Given the description of an element on the screen output the (x, y) to click on. 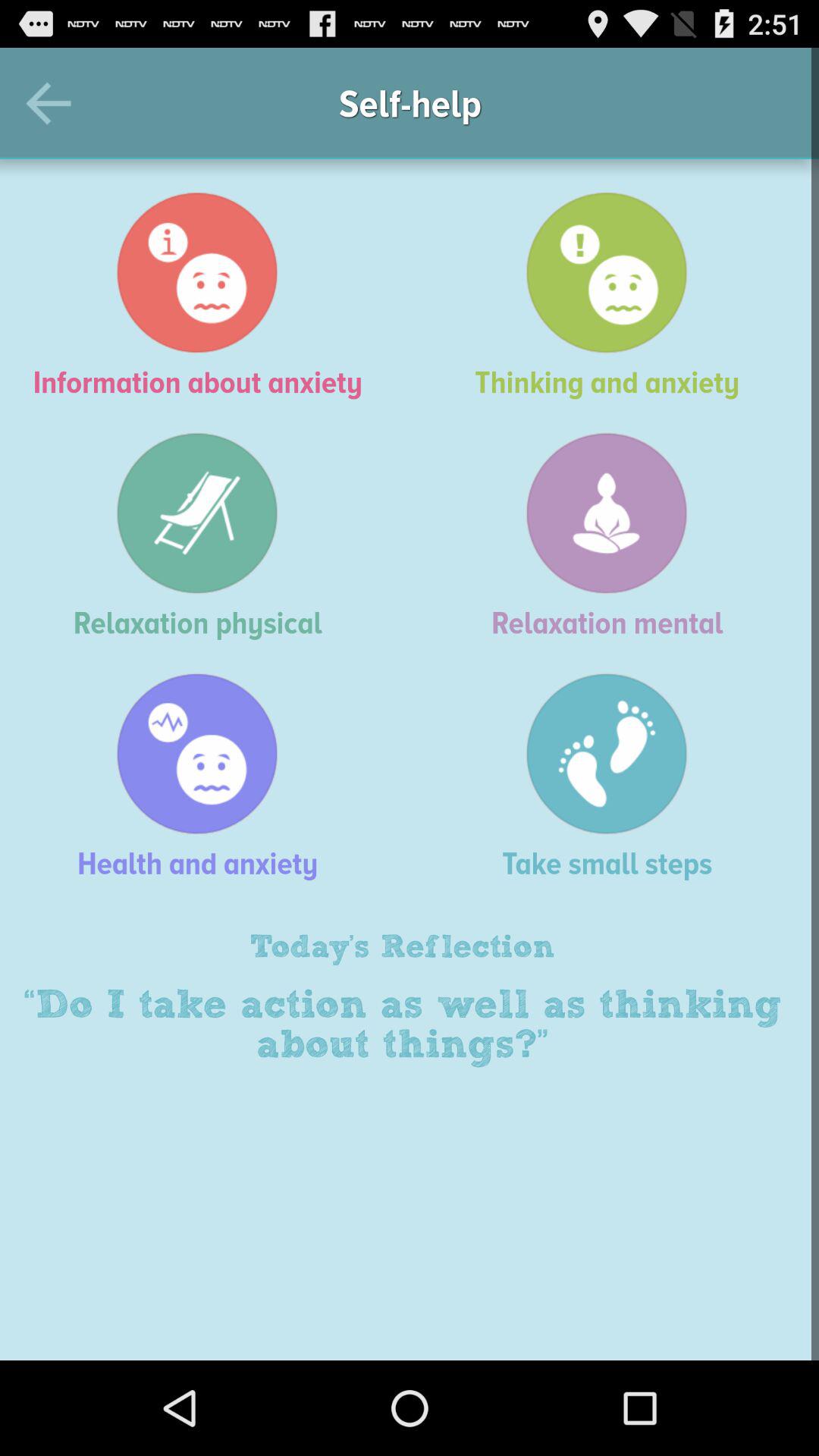
choose item below information about anxiety item (614, 535)
